Given the description of an element on the screen output the (x, y) to click on. 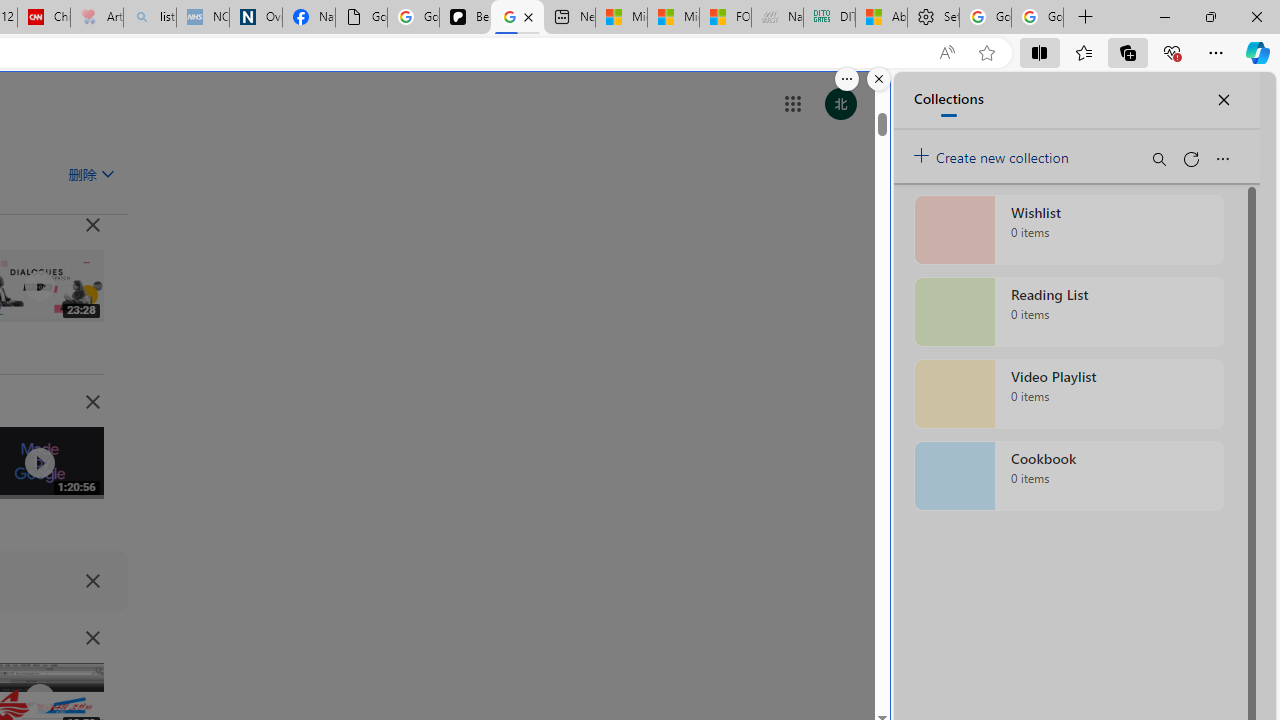
Microsoft Start (672, 17)
NCL Adult Asthma Inhaler Choice Guideline - Sleeping (202, 17)
Close (1256, 16)
Class: IVR0f NMm5M (38, 699)
FOX News - MSN (725, 17)
Add this page to favorites (Ctrl+D) (986, 53)
Aberdeen, Hong Kong SAR hourly forecast | Microsoft Weather (881, 17)
Be Smart | creating Science videos | Patreon (465, 17)
Close split screen. (878, 79)
list of asthma inhalers uk - Search - Sleeping (150, 17)
